Given the description of an element on the screen output the (x, y) to click on. 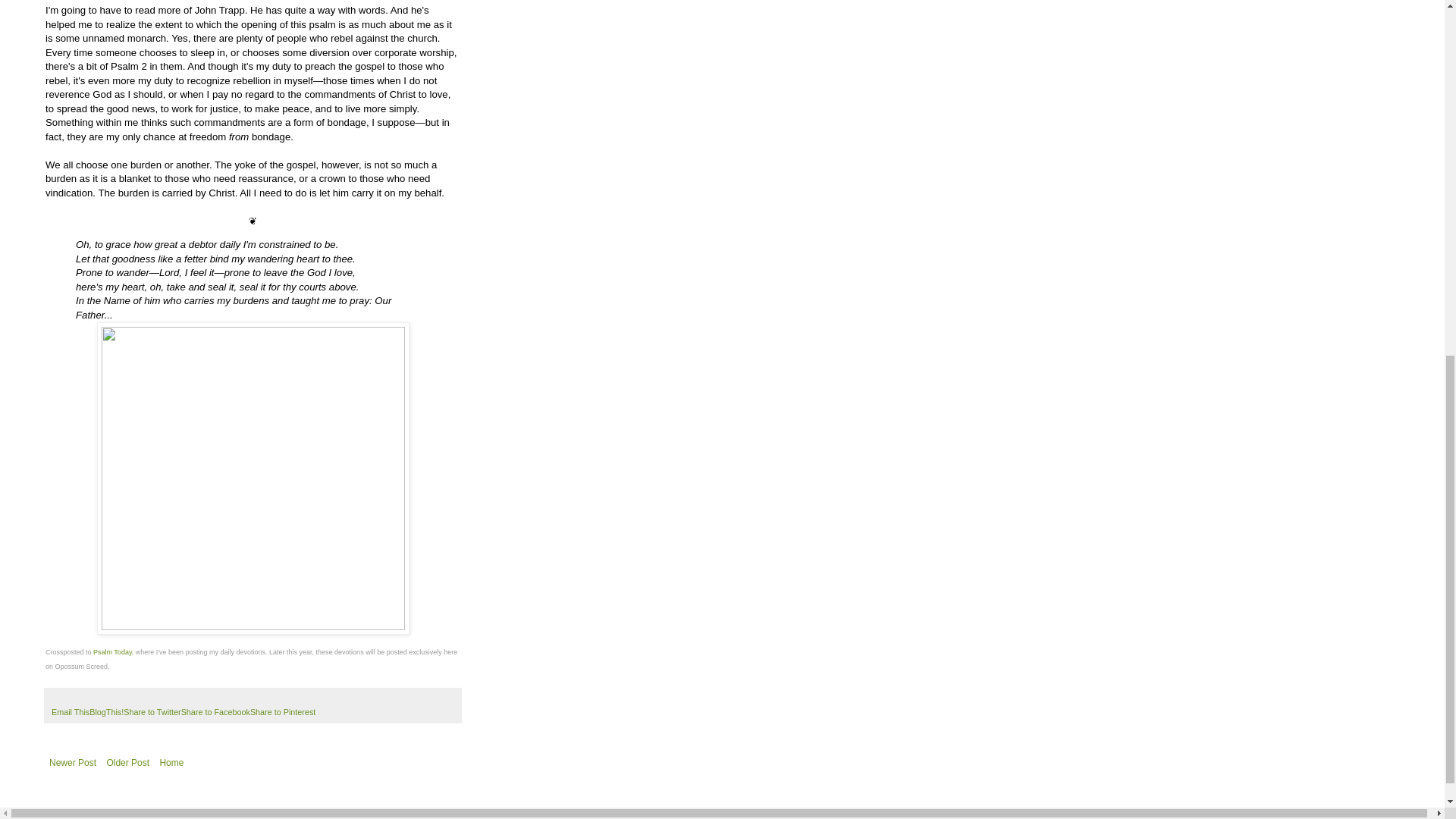
BlogThis! (105, 711)
Newer Post (72, 762)
Share to Pinterest (282, 711)
Older Post (126, 762)
Psalm Today (112, 652)
Email Post (57, 697)
Home (171, 762)
Share to Facebook (215, 711)
Email This (69, 711)
Share to Facebook (215, 711)
